Given the description of an element on the screen output the (x, y) to click on. 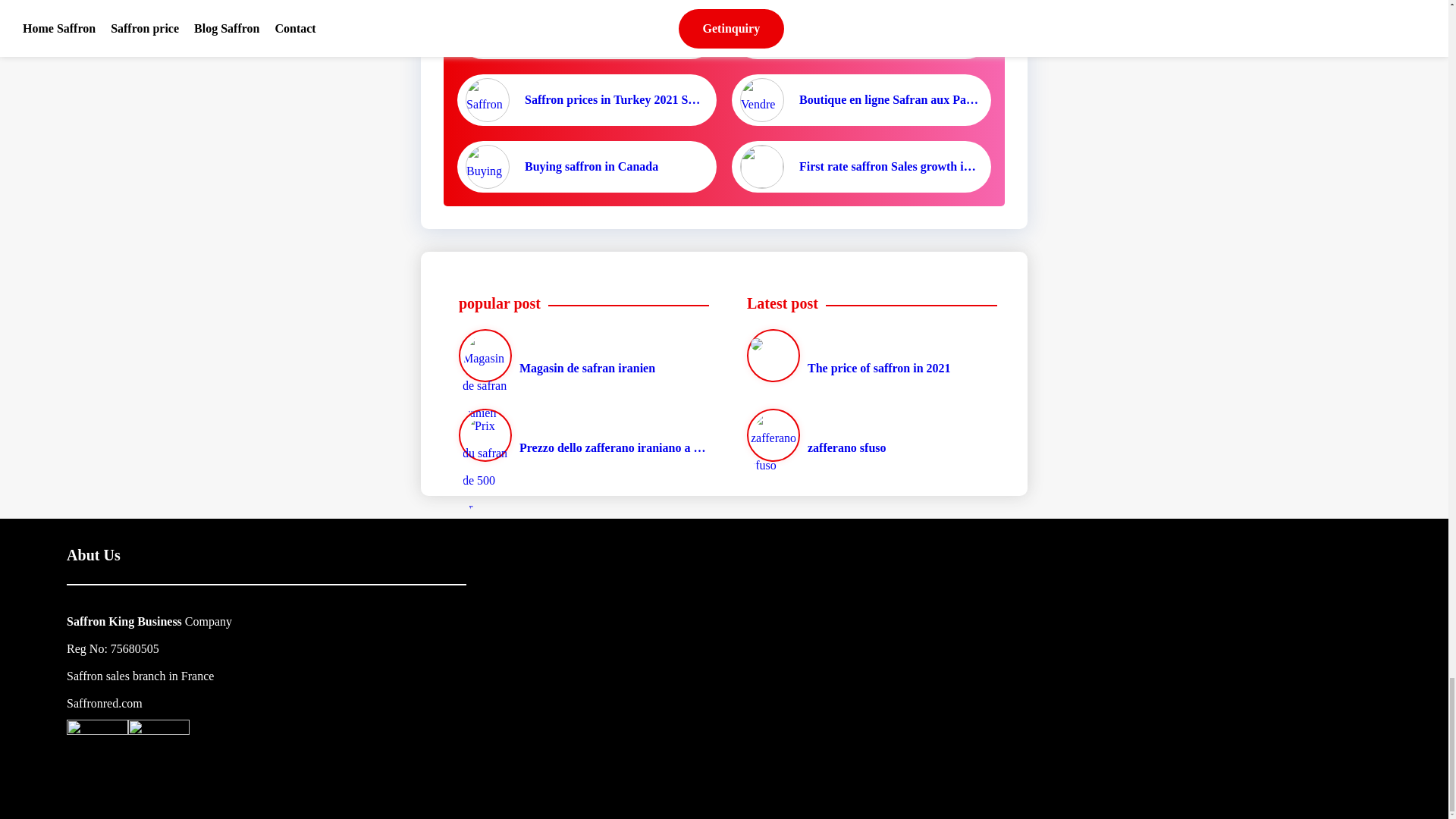
Magasin de safran iranien (580, 355)
First rate saffron Sales growth in 2021 (861, 166)
Magasin de safran iranien (580, 355)
The price of saffron in 2021 (868, 355)
Prezzo dello zafferano iraniano a novembre (580, 434)
Boutique en ligne Safran aux Pays-Bas (861, 98)
Superior saffron Market size in 2021 (587, 32)
Prezzo dello zafferano iraniano a novembre (580, 434)
zafferano sfuso (868, 434)
Iranian Saffron Distribution Center (861, 32)
Saffron King Business (124, 620)
zafferano sfuso (868, 434)
Buying saffron in Canada (587, 166)
The price of saffron in 2021 (868, 355)
Saffron prices in Turkey 2021 Saffron exports (587, 98)
